Given the description of an element on the screen output the (x, y) to click on. 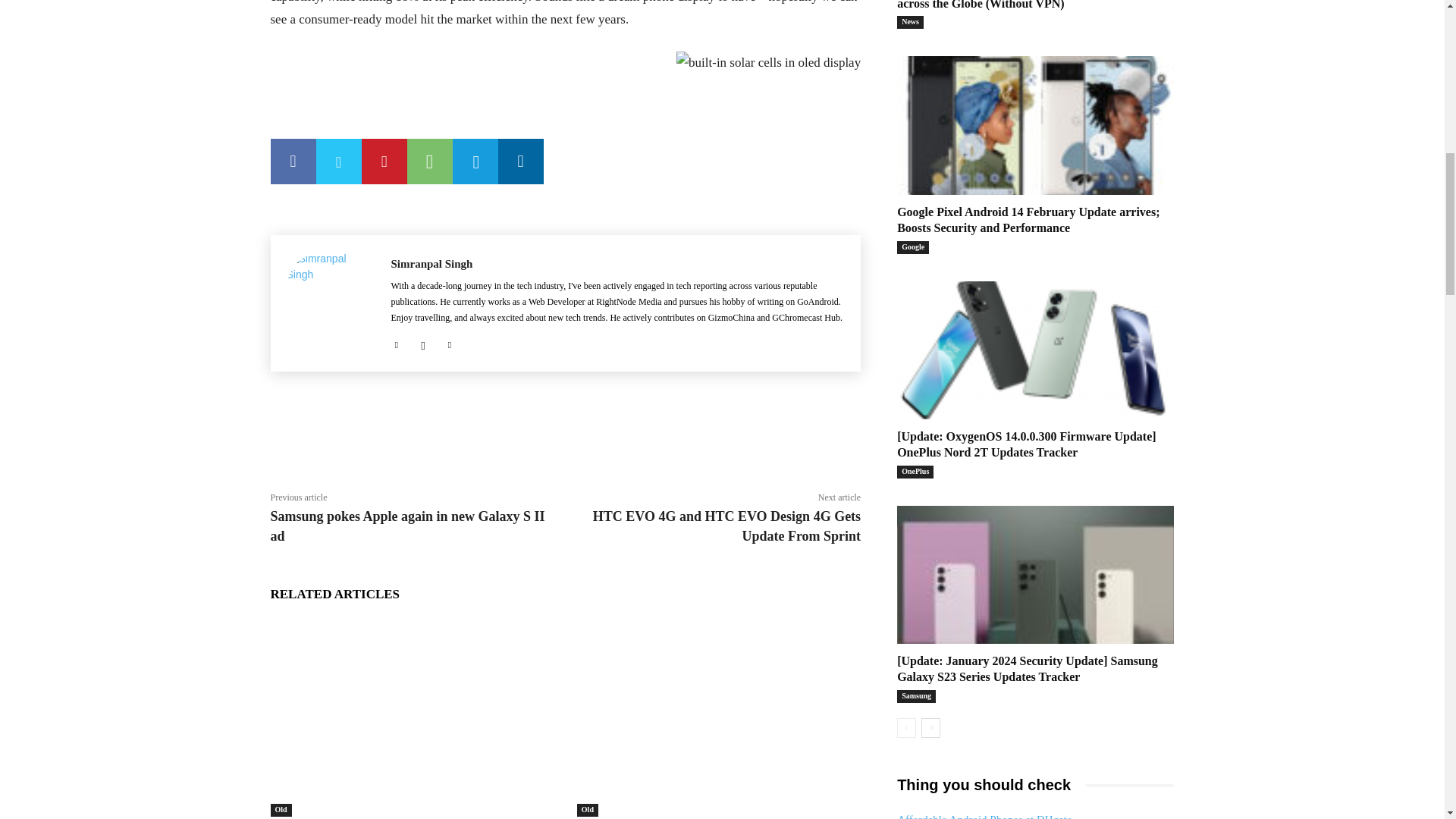
Pinterest (383, 161)
WhatsApp (428, 161)
built-in solar cells in oled display 2 (768, 63)
Twitter (338, 161)
Linkedin (520, 161)
Telegram (474, 161)
Facebook (292, 161)
